Given the description of an element on the screen output the (x, y) to click on. 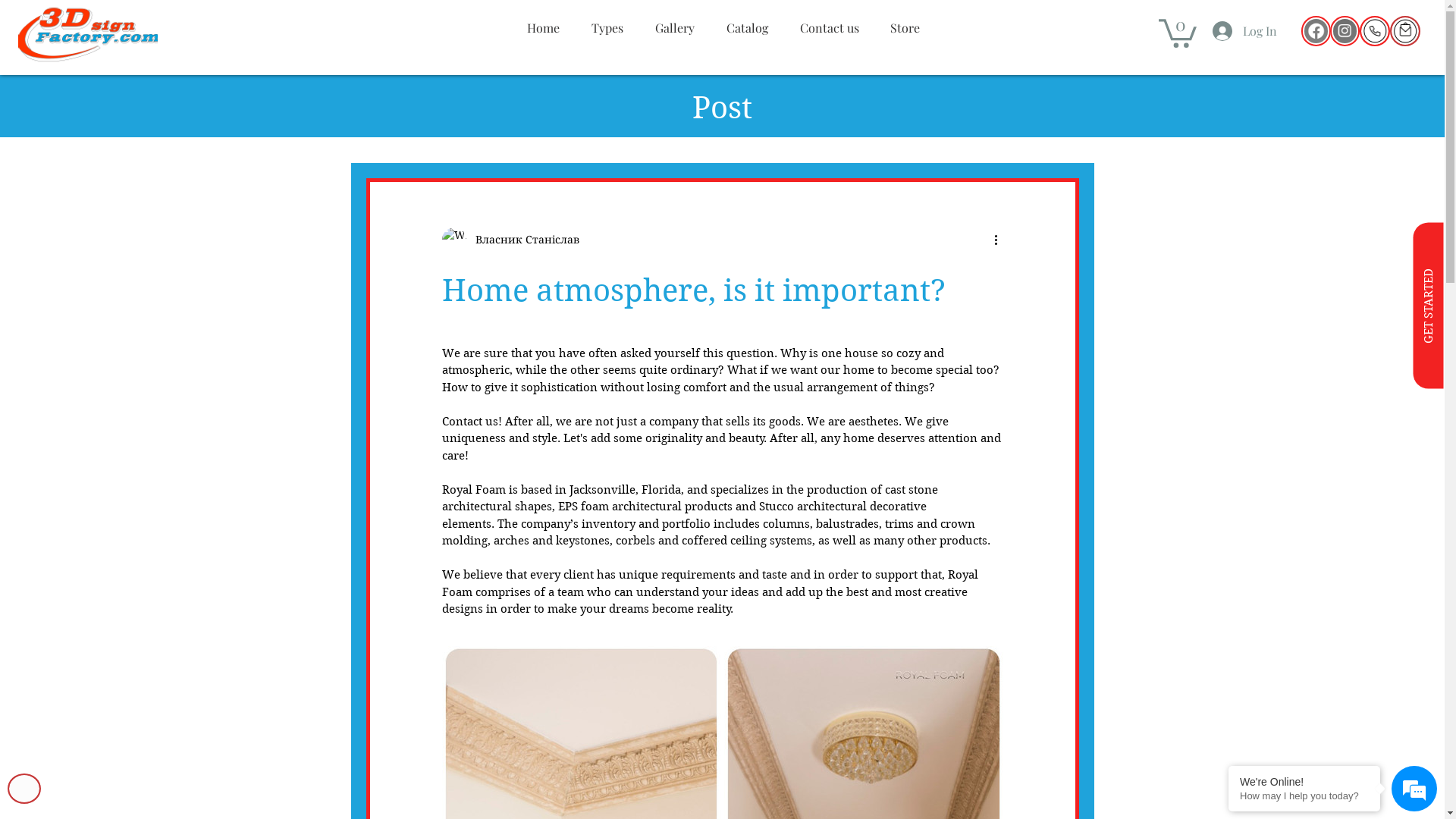
Gallery Element type: text (673, 27)
Catalog Element type: text (746, 27)
0 Element type: text (1177, 31)
Store Element type: text (905, 27)
Contact us Element type: text (829, 27)
Home Element type: text (543, 27)
Types Element type: text (606, 27)
Log In Element type: text (1244, 30)
